Given the description of an element on the screen output the (x, y) to click on. 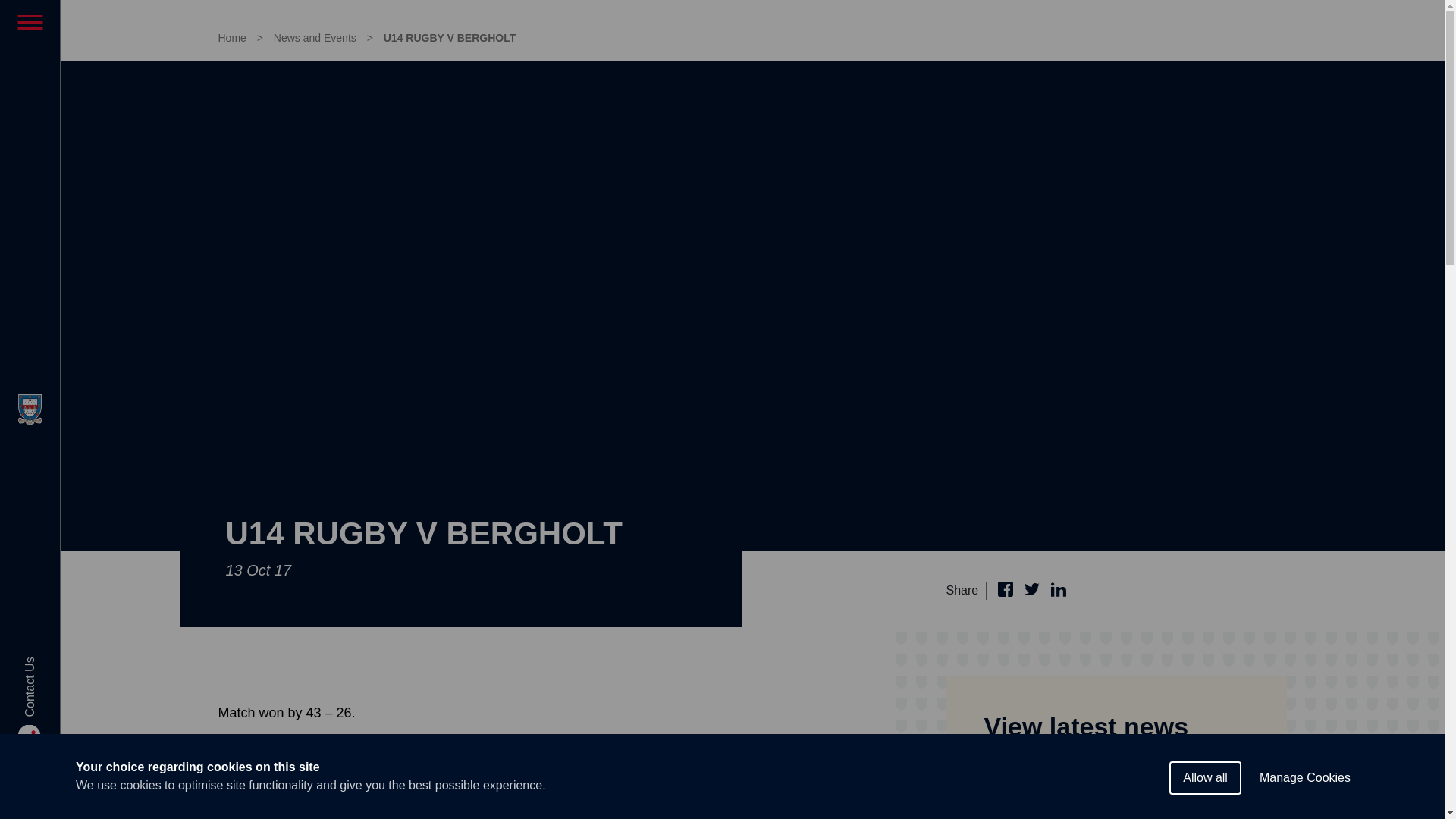
About Woodbridge School (29, 71)
Life at Woodbridge School (29, 122)
Contact Us (51, 712)
